Given the description of an element on the screen output the (x, y) to click on. 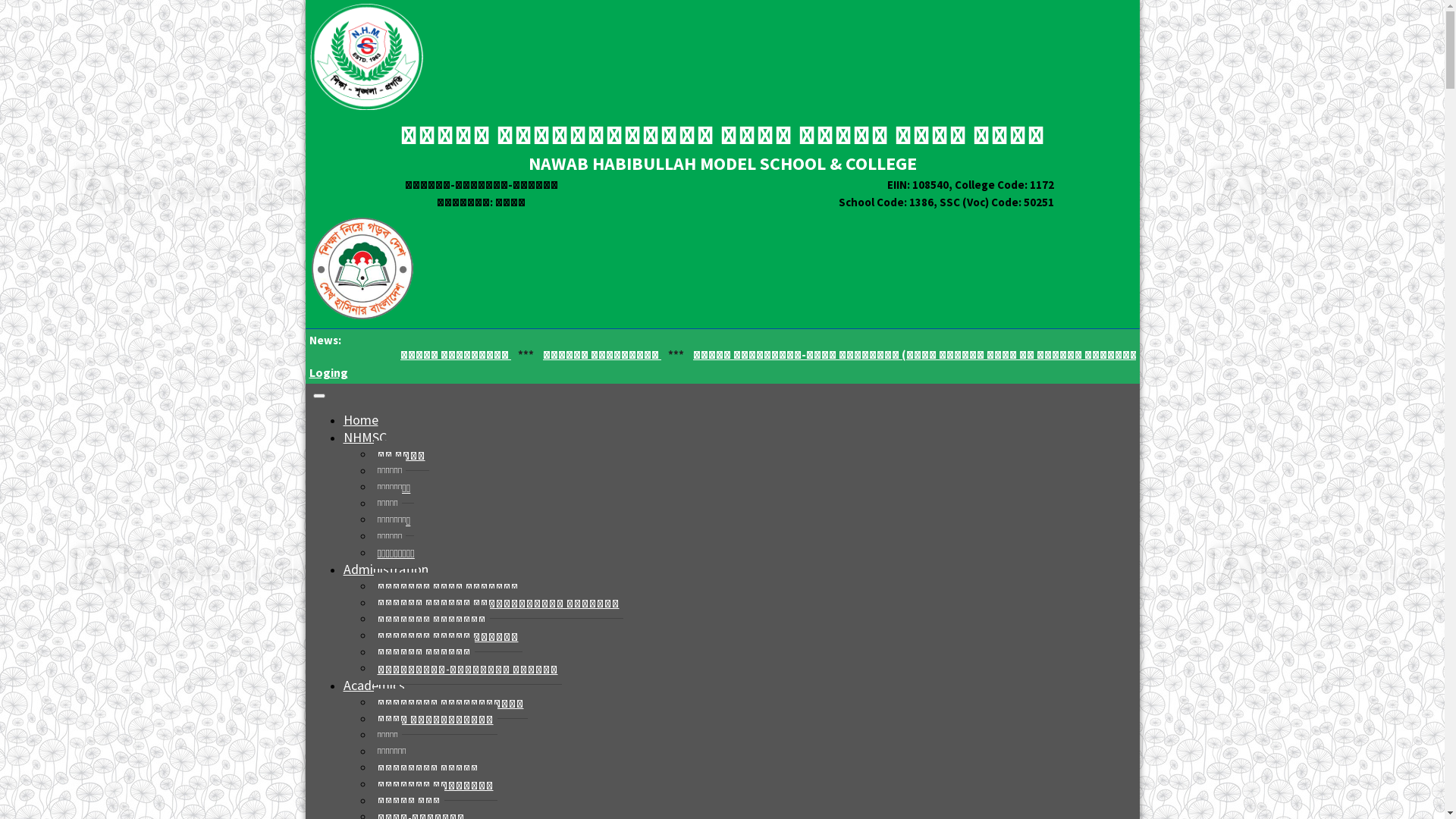
Nawab Habibullah Model School & College Element type: hover (365, 108)
NHMSC Element type: text (363, 436)
Nawab Habibullah Model School & College Element type: hover (361, 320)
Academics Element type: text (373, 684)
Administration Element type: text (384, 568)
Loging Element type: text (328, 371)
Home Element type: text (359, 419)
